Given the description of an element on the screen output the (x, y) to click on. 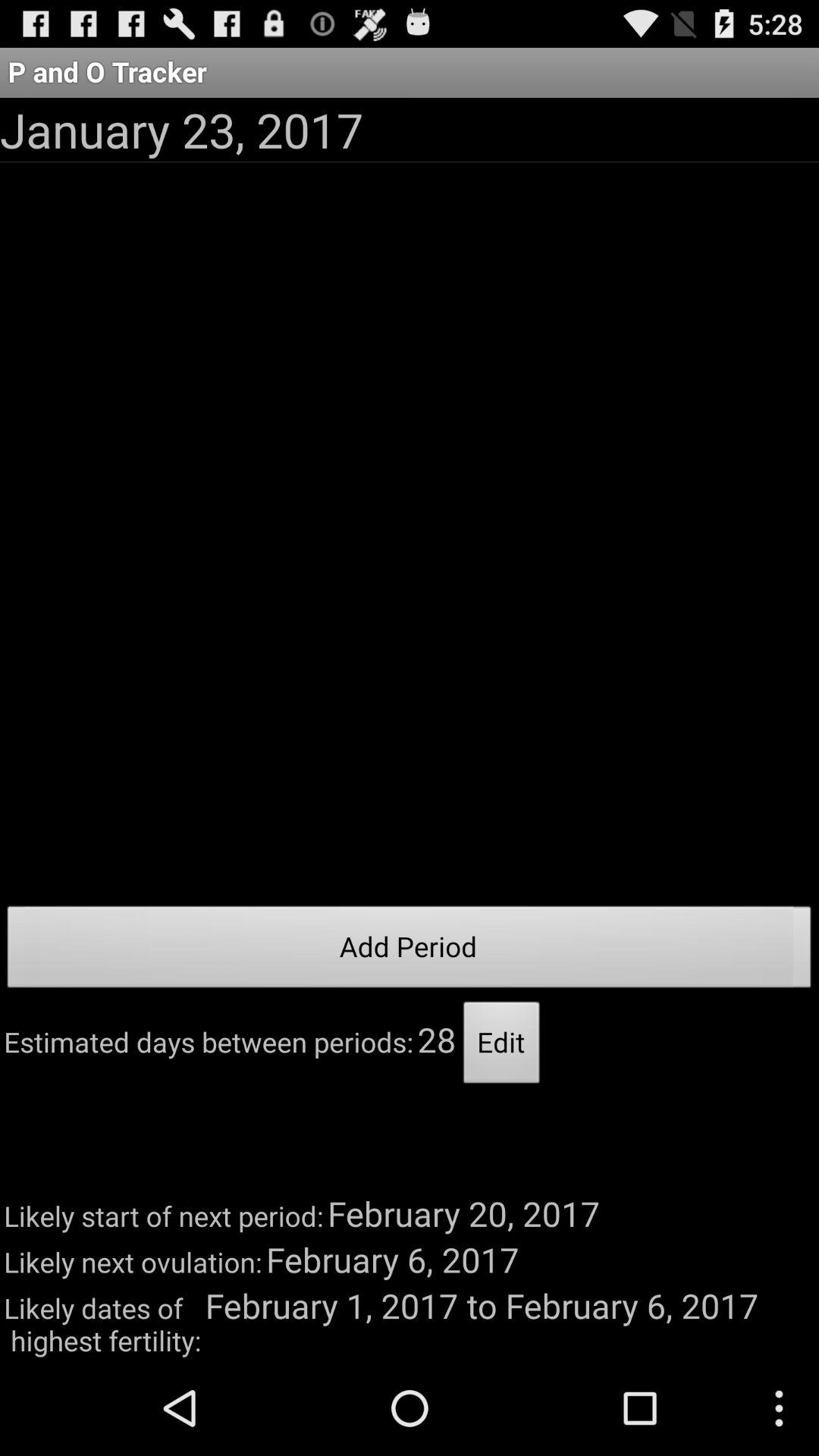
tap the app below the p and o icon (181, 129)
